Given the description of an element on the screen output the (x, y) to click on. 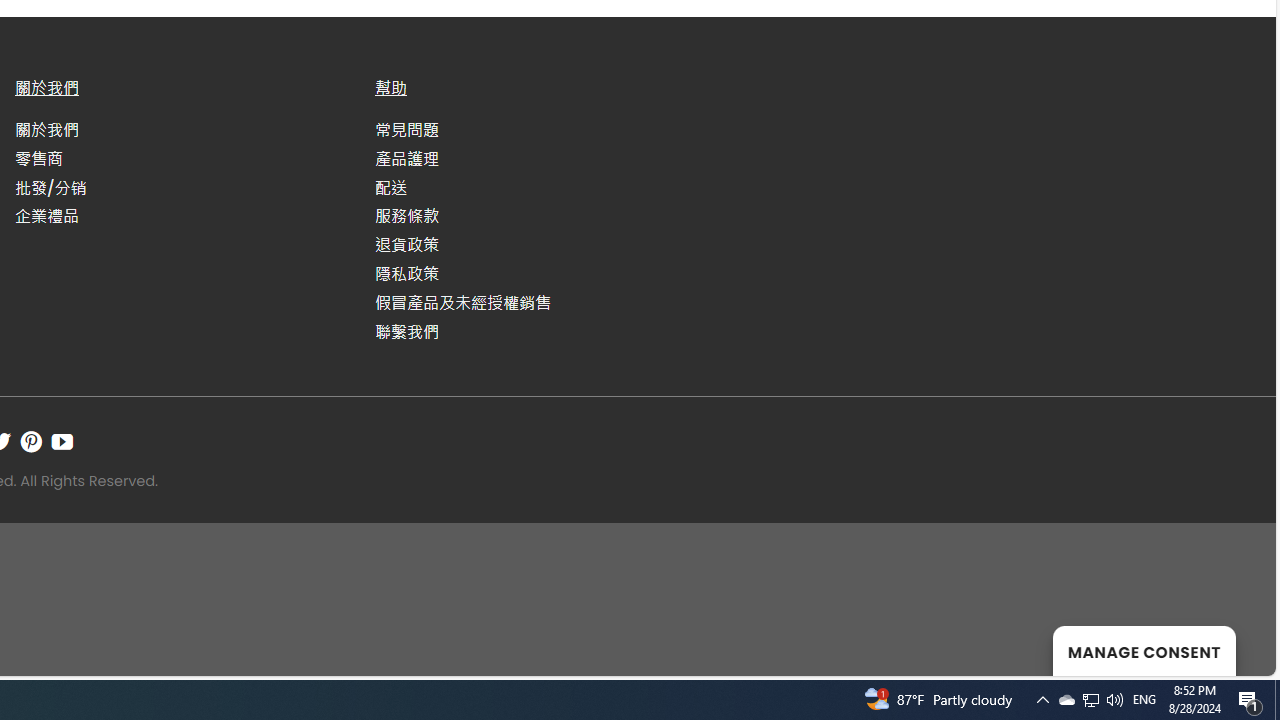
MANAGE CONSENT (1144, 650)
